Given the description of an element on the screen output the (x, y) to click on. 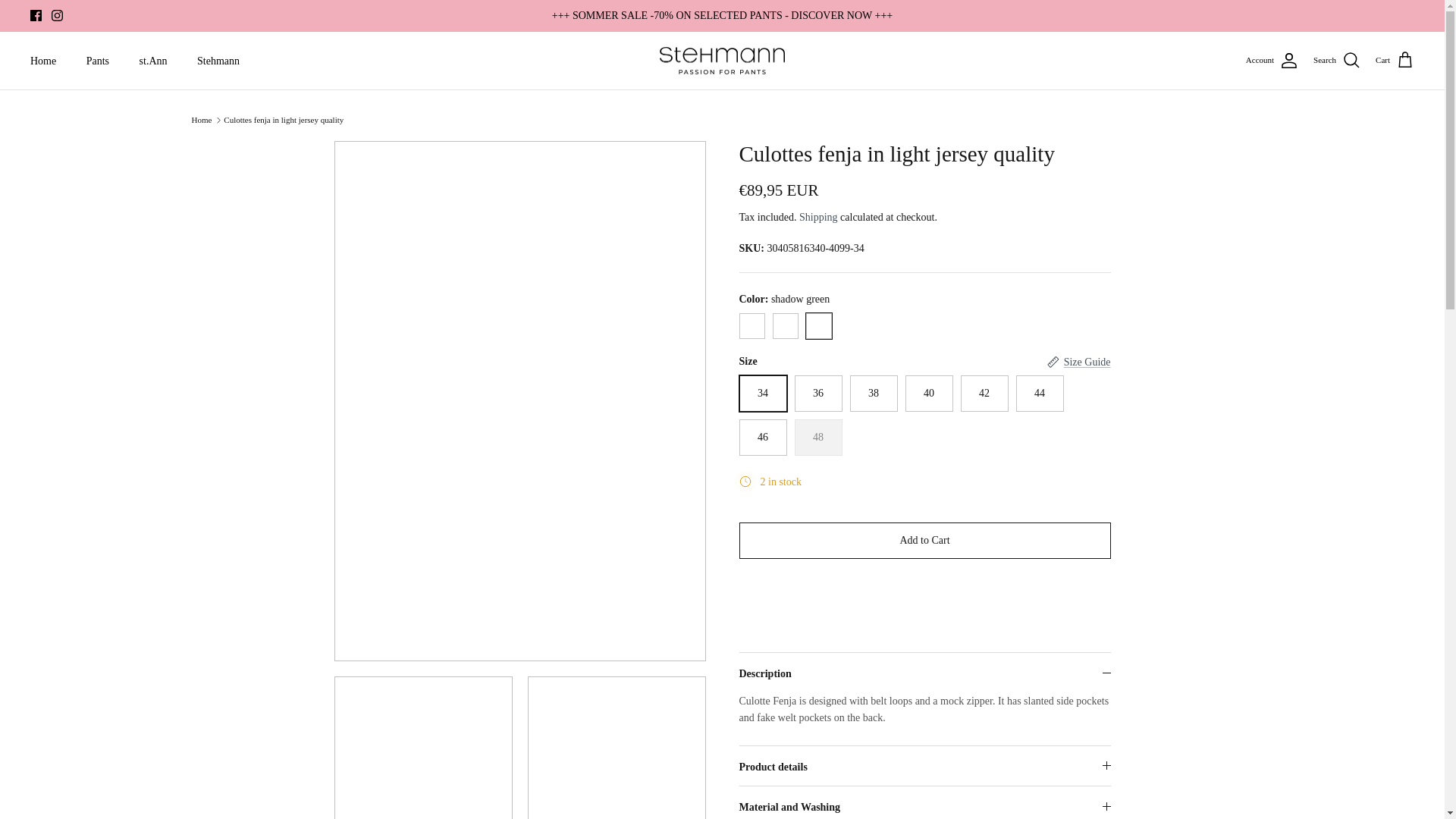
Pants (97, 60)
Instagram (56, 15)
Stehmann (218, 60)
Cart (1394, 60)
Search (1336, 60)
Facebook (36, 15)
st.Ann (152, 60)
Home (42, 60)
Instagram (56, 15)
Facebook (36, 15)
